Given the description of an element on the screen output the (x, y) to click on. 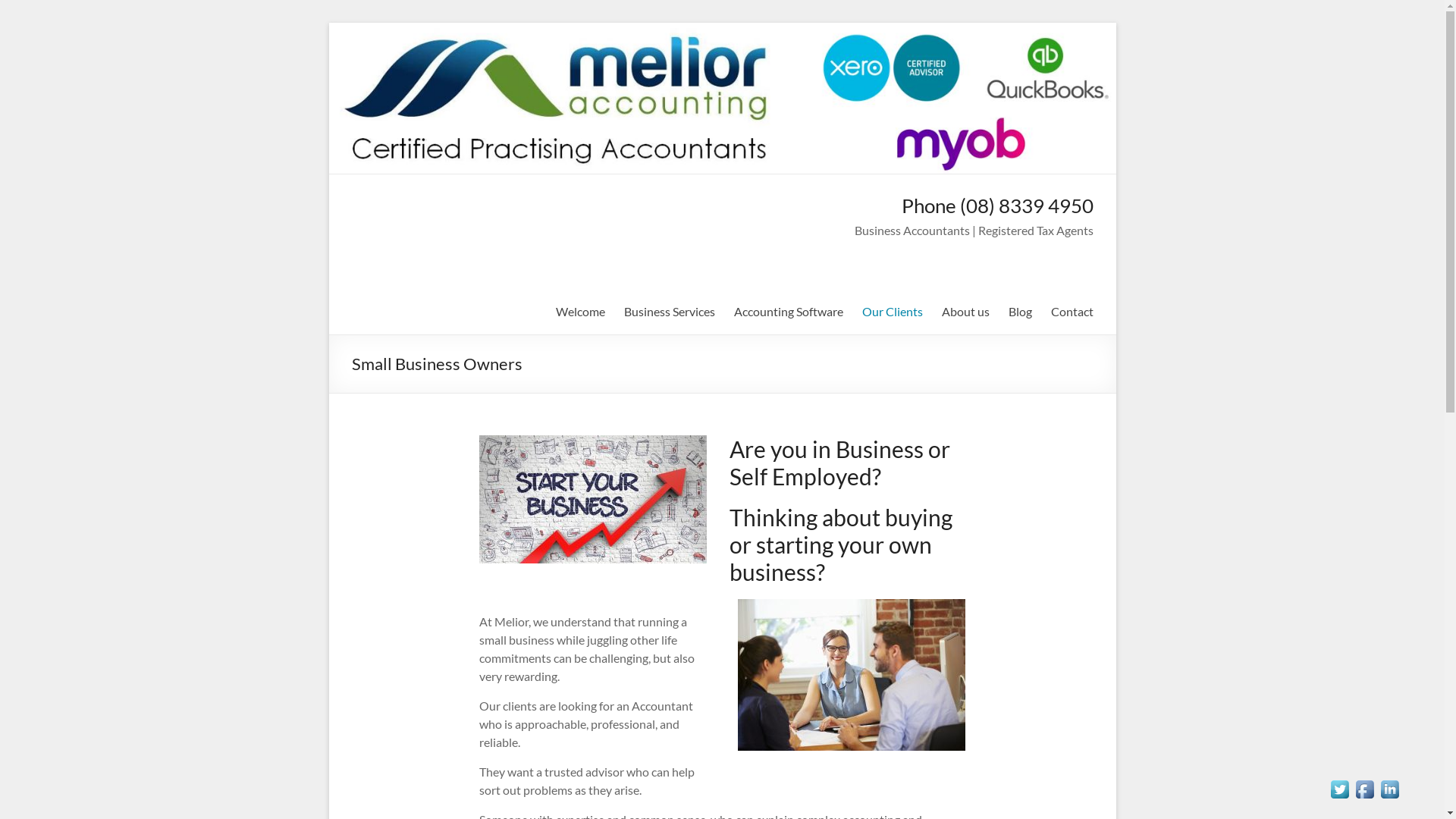
Melior Accounting Element type: text (417, 220)
Blog Element type: text (1020, 311)
Visit Us On Facebook Element type: hover (1364, 784)
Accounting Software Element type: text (788, 311)
About us Element type: text (965, 311)
Visit Us On Twitter Element type: hover (1339, 784)
Visit Us On Linkedin Element type: hover (1389, 784)
Business Services Element type: text (668, 311)
Our Clients Element type: text (891, 311)
Contact Element type: text (1072, 311)
Skip to content Element type: text (327, 21)
Welcome Element type: text (579, 311)
